Given the description of an element on the screen output the (x, y) to click on. 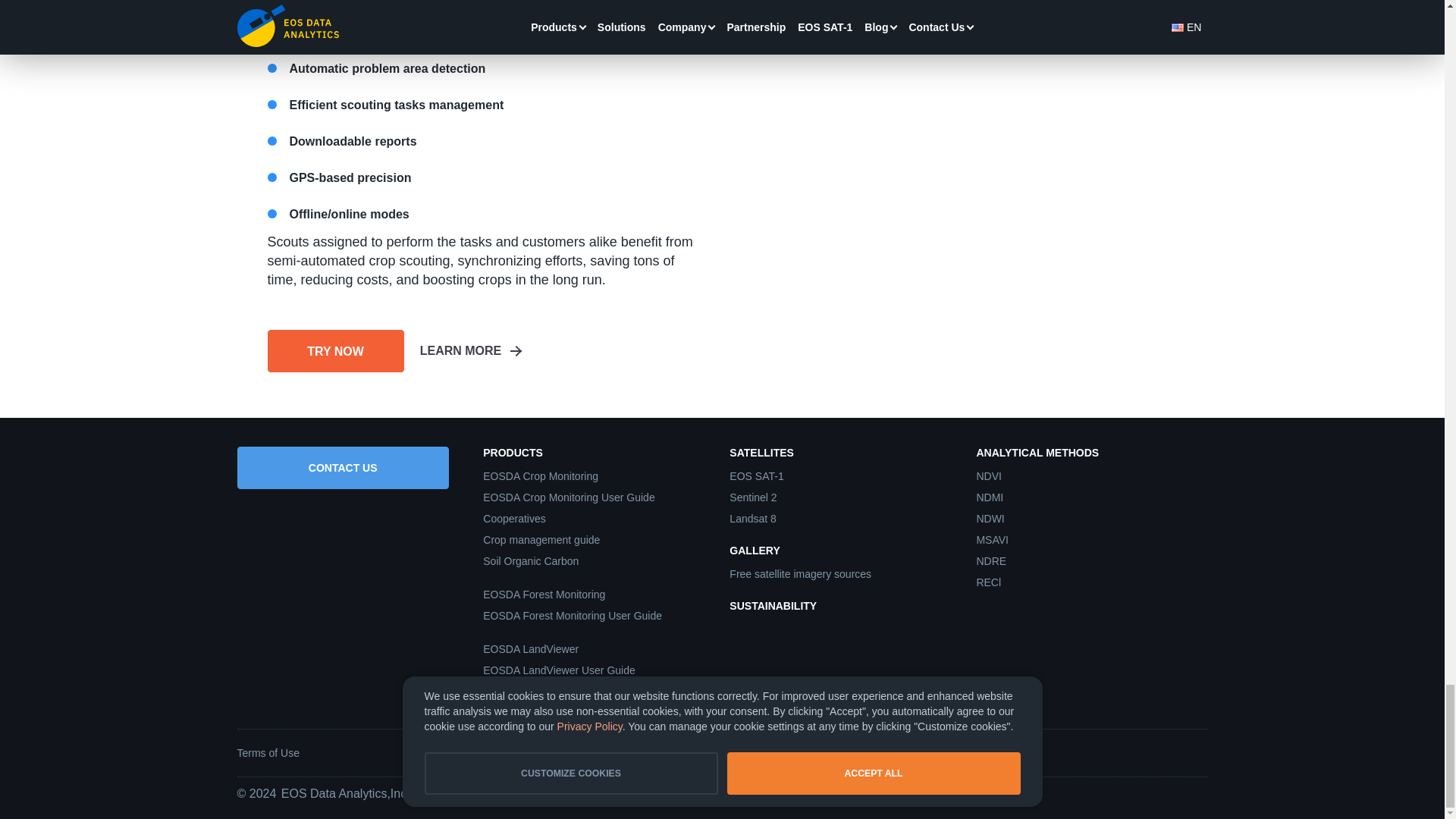
Follow us on Twitter (1119, 753)
Follow us on Youtube (1196, 753)
Connect with us on Facebook (1043, 753)
Follow us on Instagram (1158, 753)
Visit EOS on LinkedIn (1081, 753)
